Given the description of an element on the screen output the (x, y) to click on. 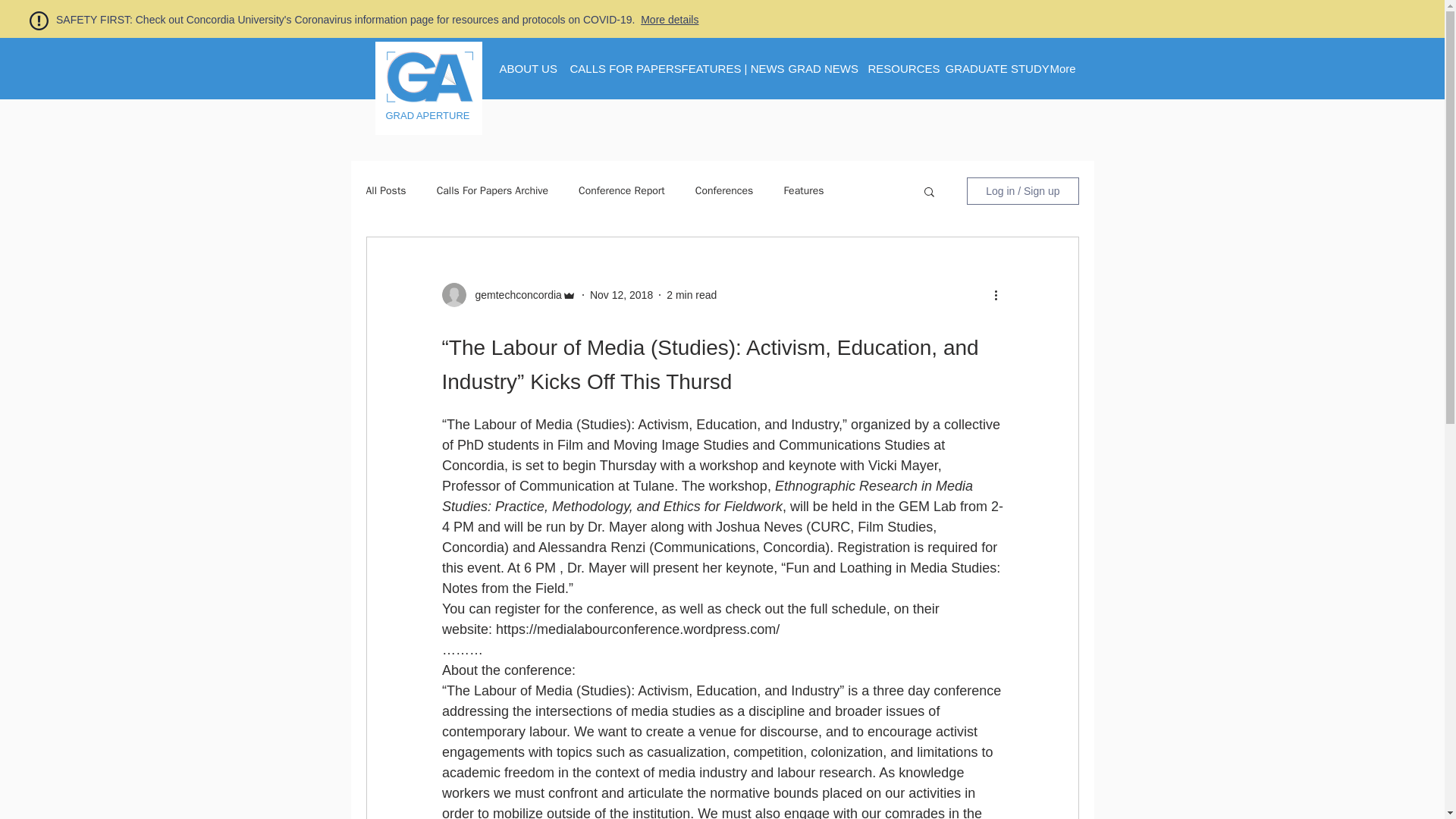
Features (803, 191)
2 min read (691, 294)
Conference Report (621, 191)
All Posts (385, 191)
Conferences (724, 191)
Nov 12, 2018 (620, 294)
gemtechconcordia (512, 294)
Calls For Papers Archive (492, 191)
More details (669, 19)
